Given the description of an element on the screen output the (x, y) to click on. 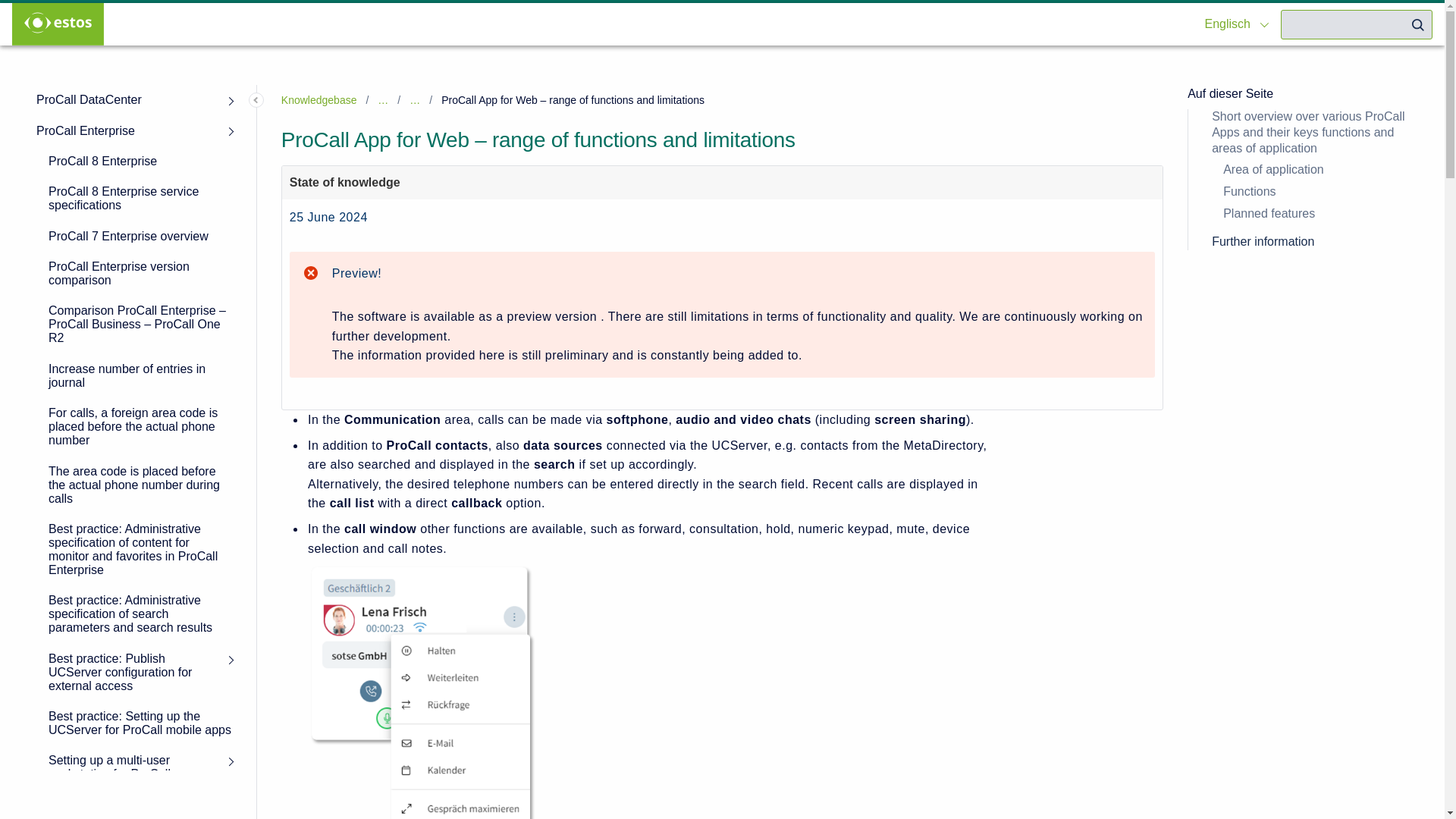
ProCall Enterprise version comparison (140, 273)
Englisch (1230, 23)
ProCall DataCenter (134, 100)
ProCall 8 Enterprise service specifications (140, 198)
Setting up a multi-user workstation for ProCall Enterprise (140, 774)
ProCall 7 Enterprise overview (140, 236)
